Given the description of an element on the screen output the (x, y) to click on. 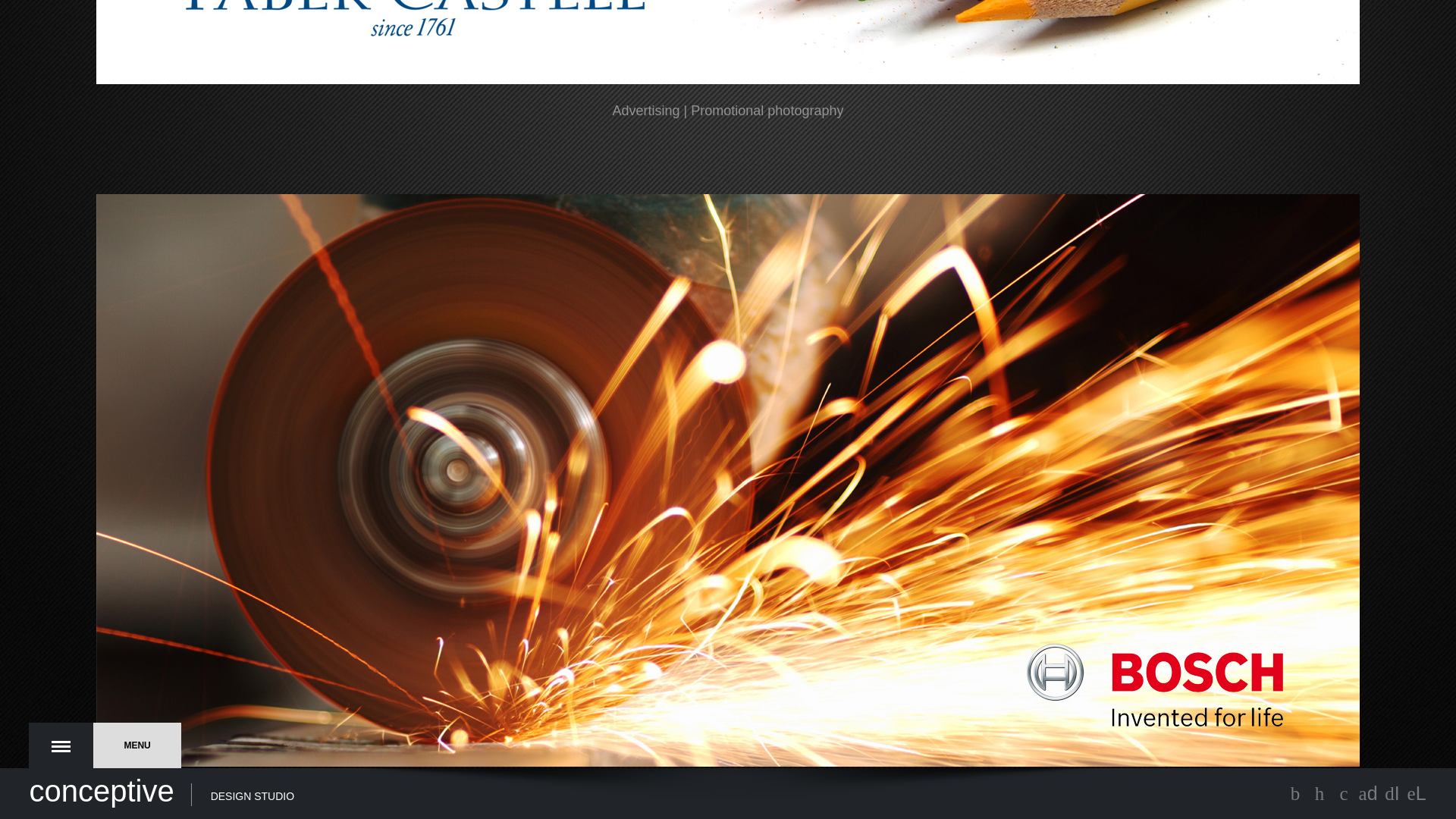
photography (805, 110)
Advertising (645, 110)
Advertising (645, 792)
photography (805, 792)
